Given the description of an element on the screen output the (x, y) to click on. 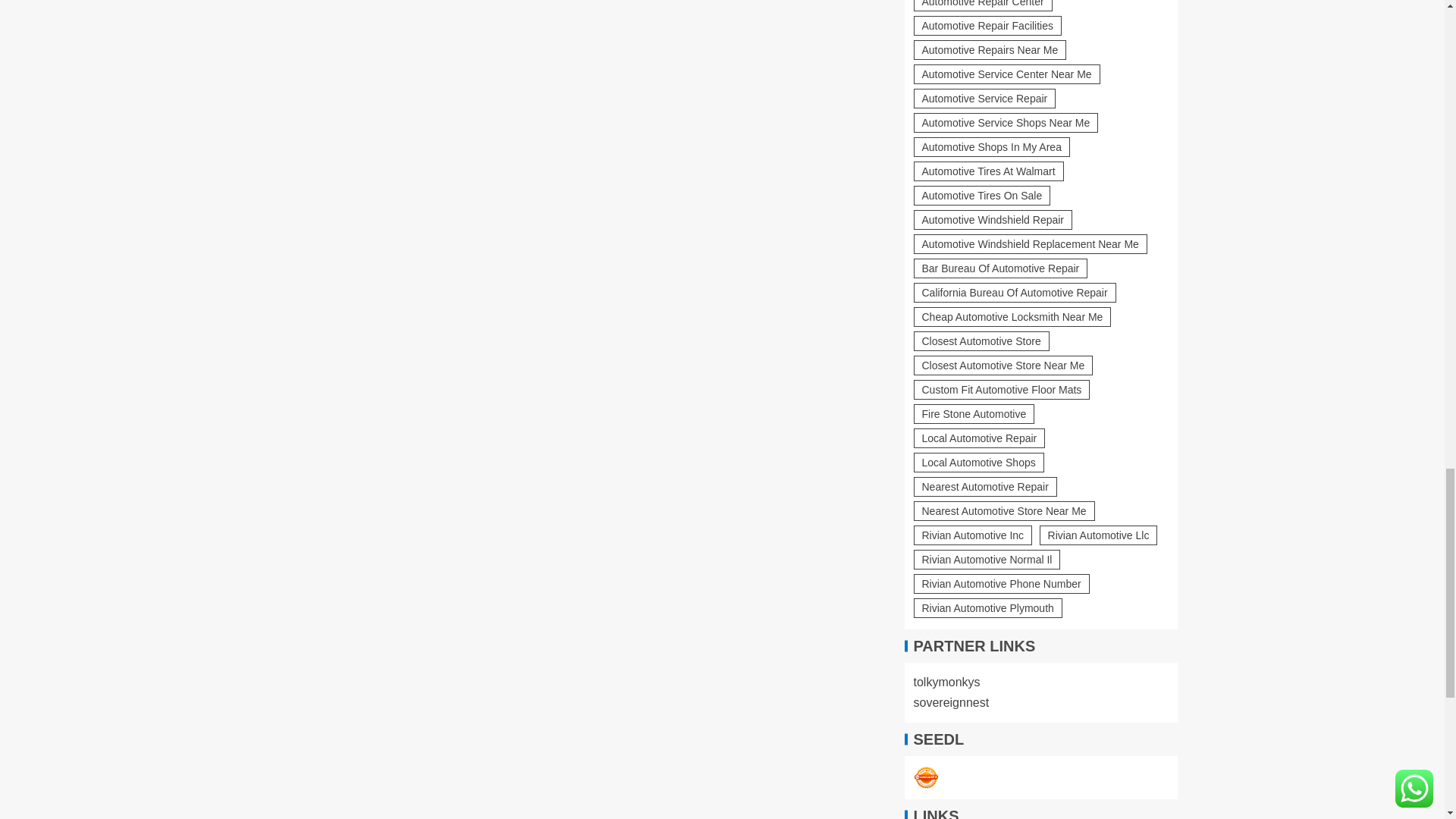
Seedbacklink (925, 777)
